Given the description of an element on the screen output the (x, y) to click on. 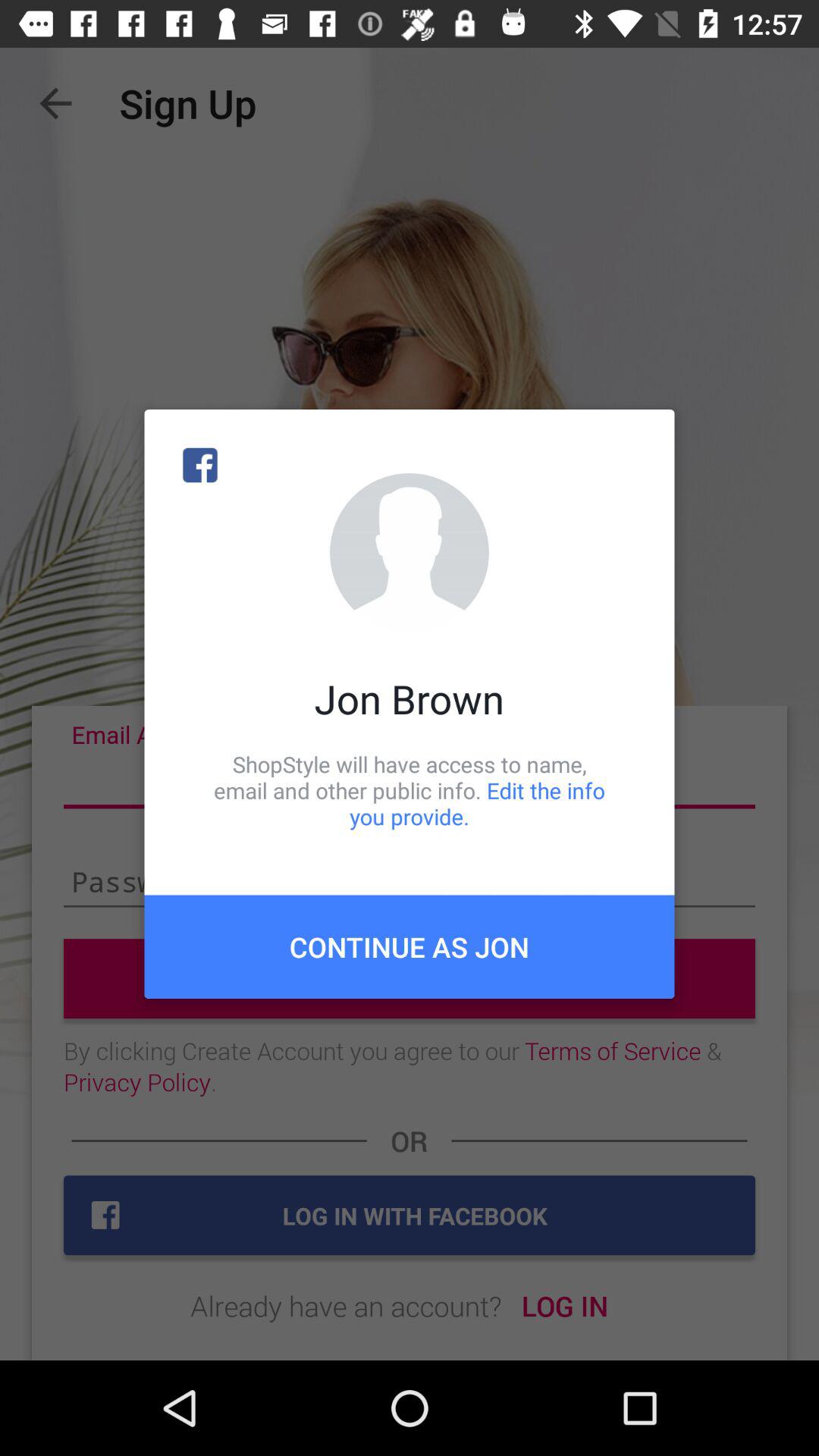
open icon above the continue as jon icon (409, 790)
